Given the description of an element on the screen output the (x, y) to click on. 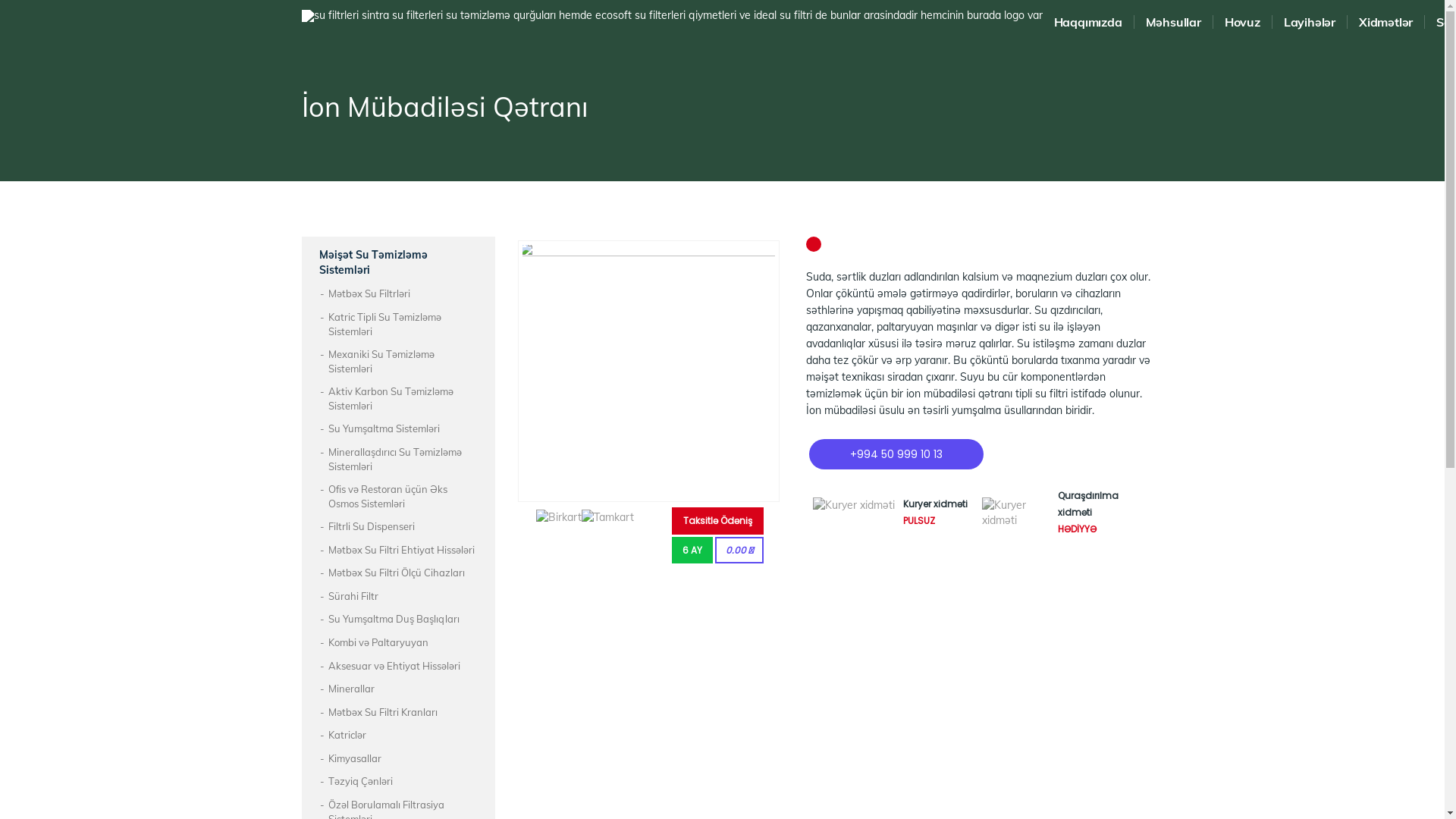
+994 50 999 10 13 Element type: text (895, 454)
Kimyasallar Element type: text (353, 758)
Minerallar Element type: text (350, 688)
Filtrli Su Dispenseri Element type: text (370, 526)
Hovuz Element type: text (1241, 21)
